Given the description of an element on the screen output the (x, y) to click on. 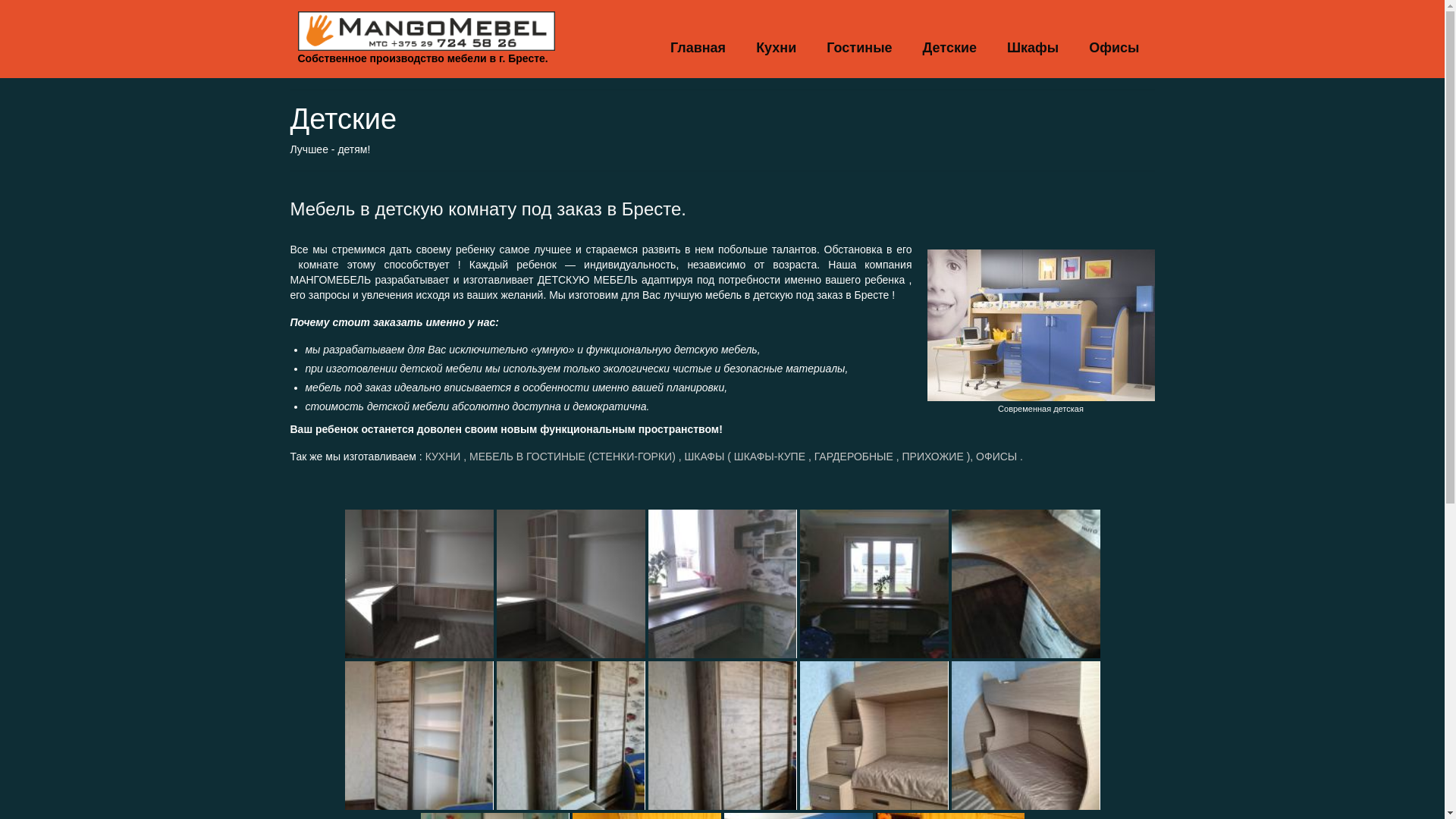
detskaja-sovremennaja Element type: hover (1040, 325)
